Given the description of an element on the screen output the (x, y) to click on. 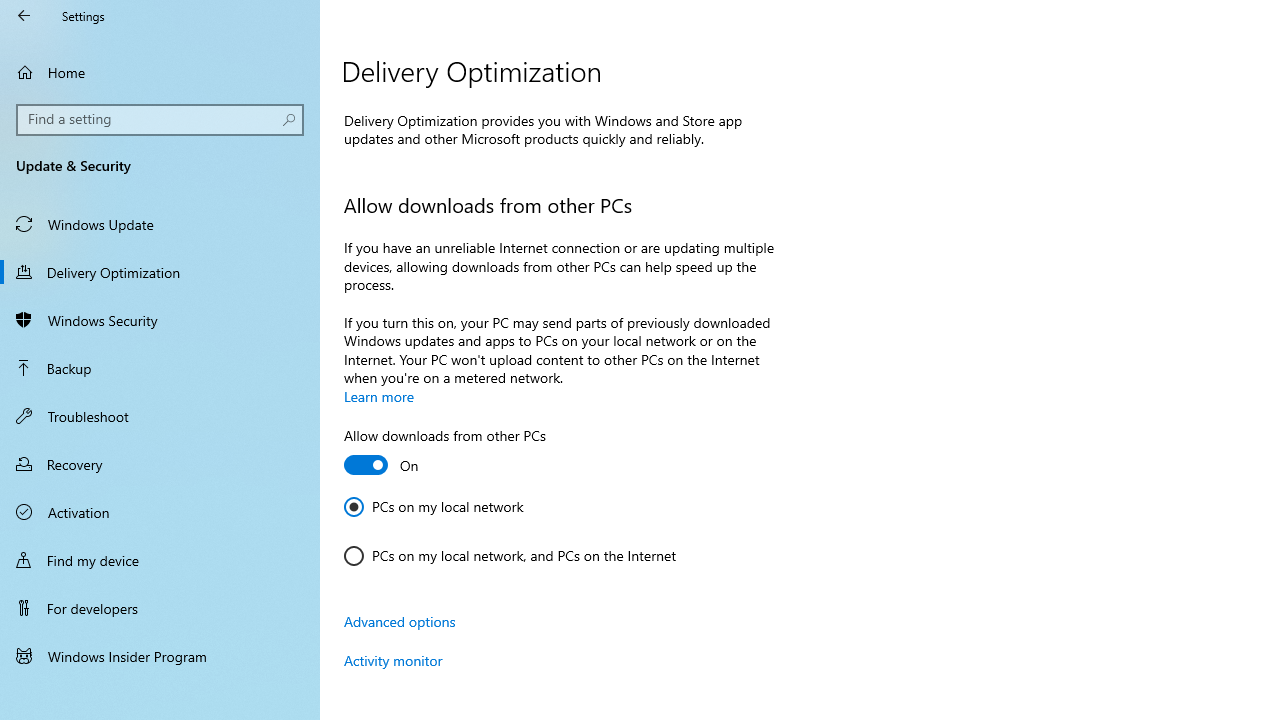
Allow downloads from other PCs (445, 453)
Back (24, 15)
Delivery Optimization (160, 271)
Troubleshoot (160, 415)
PCs on my local network (433, 506)
Windows Update (160, 223)
Activity monitor (393, 660)
Windows Security (160, 319)
For developers (160, 607)
Find my device (160, 559)
PCs on my local network, and PCs on the Internet (510, 555)
Search box, Find a setting (160, 119)
Windows Insider Program (160, 655)
Backup (160, 367)
Home (160, 71)
